Given the description of an element on the screen output the (x, y) to click on. 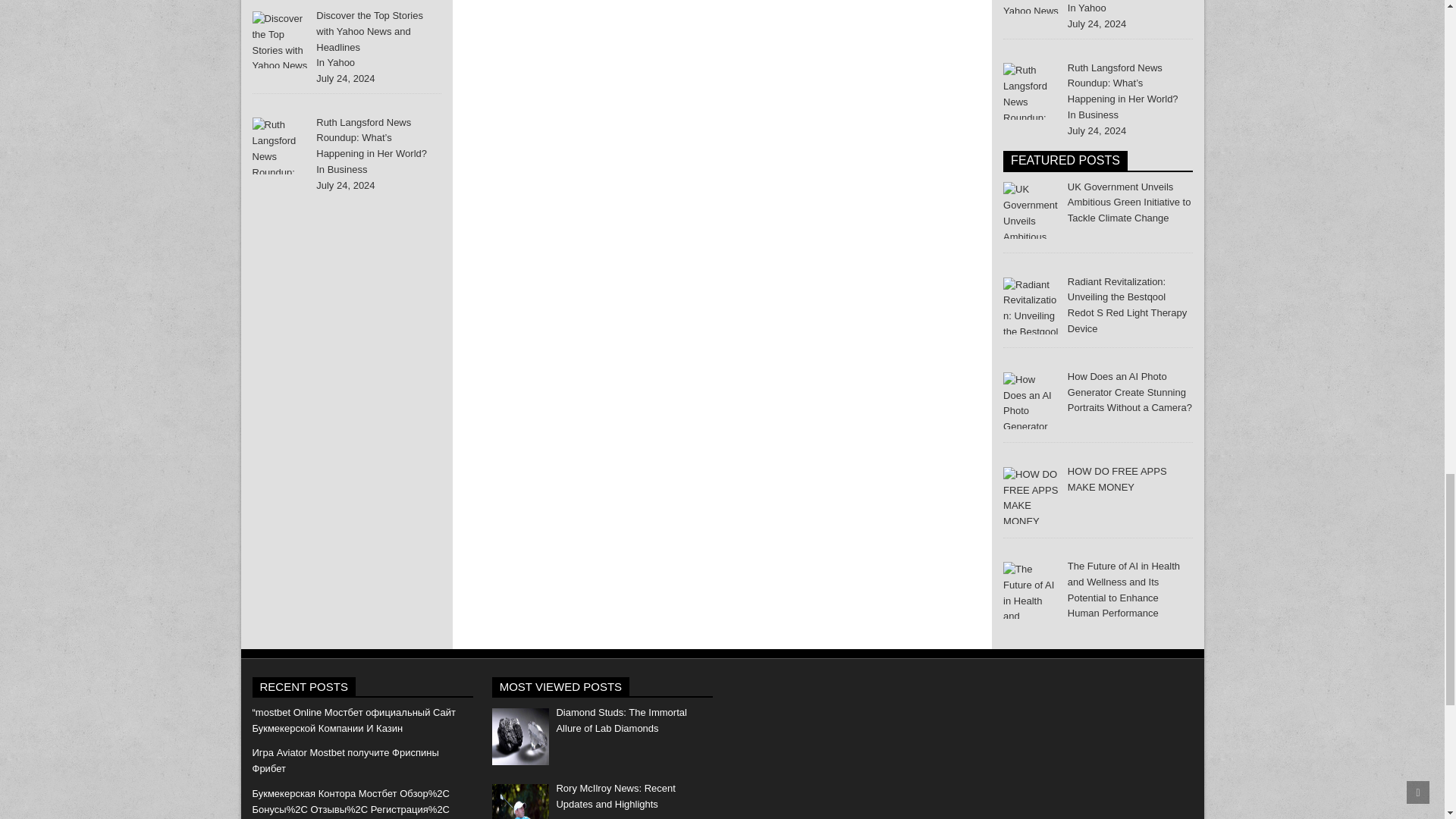
Discover the Top Stories with Yahoo News and Headlines (369, 31)
Discover the Top Stories with Yahoo News and Headlines (279, 39)
